Given the description of an element on the screen output the (x, y) to click on. 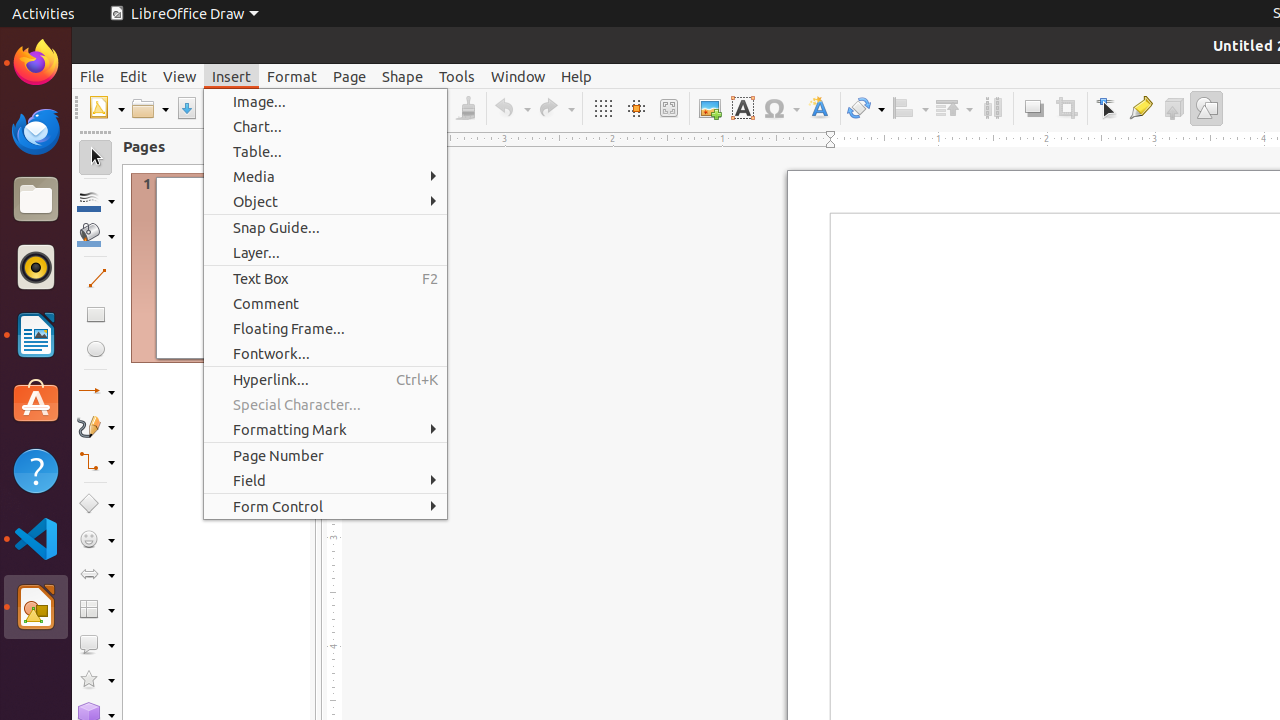
Image Element type: push-button (709, 108)
